Given the description of an element on the screen output the (x, y) to click on. 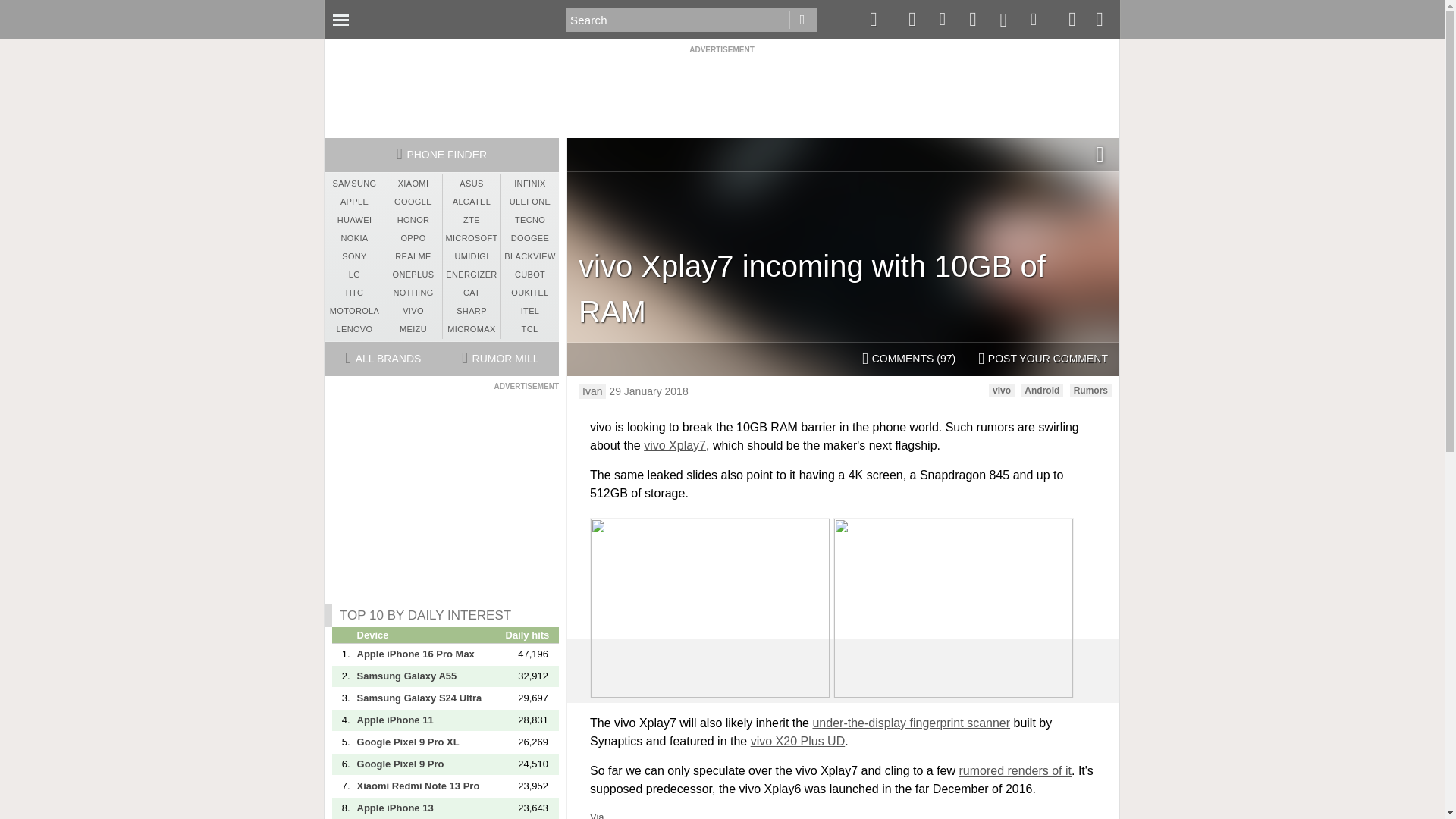
Rumors (1091, 390)
vivo (1001, 390)
Via (596, 815)
under-the-display fingerprint scanner (911, 722)
Android (1041, 390)
Go (802, 19)
vivo X20 Plus UD (798, 740)
vivo Xplay7 (674, 445)
Go (802, 19)
rumored renders of it (1014, 770)
